Given the description of an element on the screen output the (x, y) to click on. 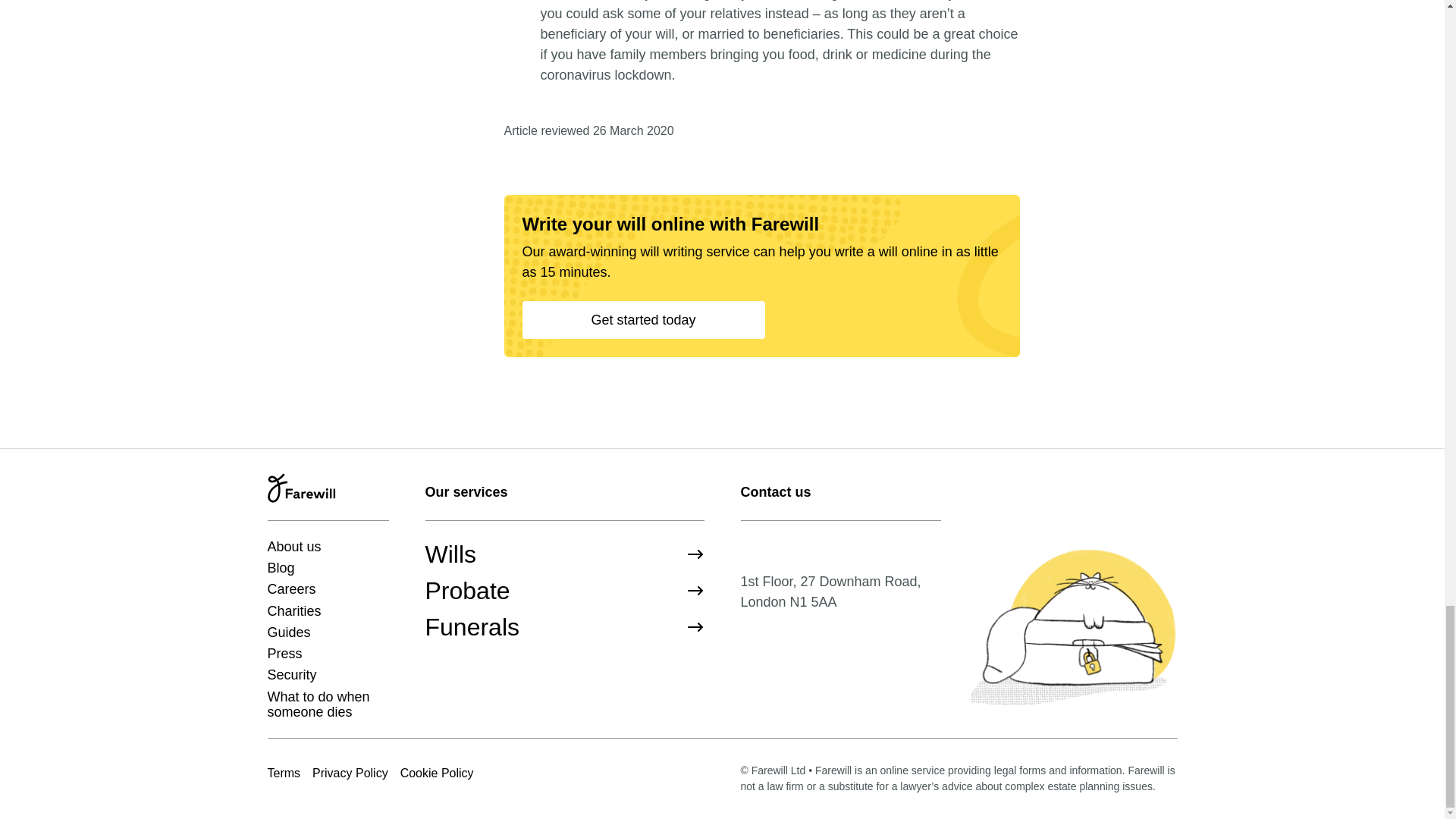
Press (283, 653)
Get started today (642, 320)
Cookie Policy (437, 772)
Guides (288, 631)
Wills (564, 553)
About us (293, 546)
Security (290, 674)
Charities (293, 611)
Blog (280, 567)
What to do when someone dies (327, 704)
